Given the description of an element on the screen output the (x, y) to click on. 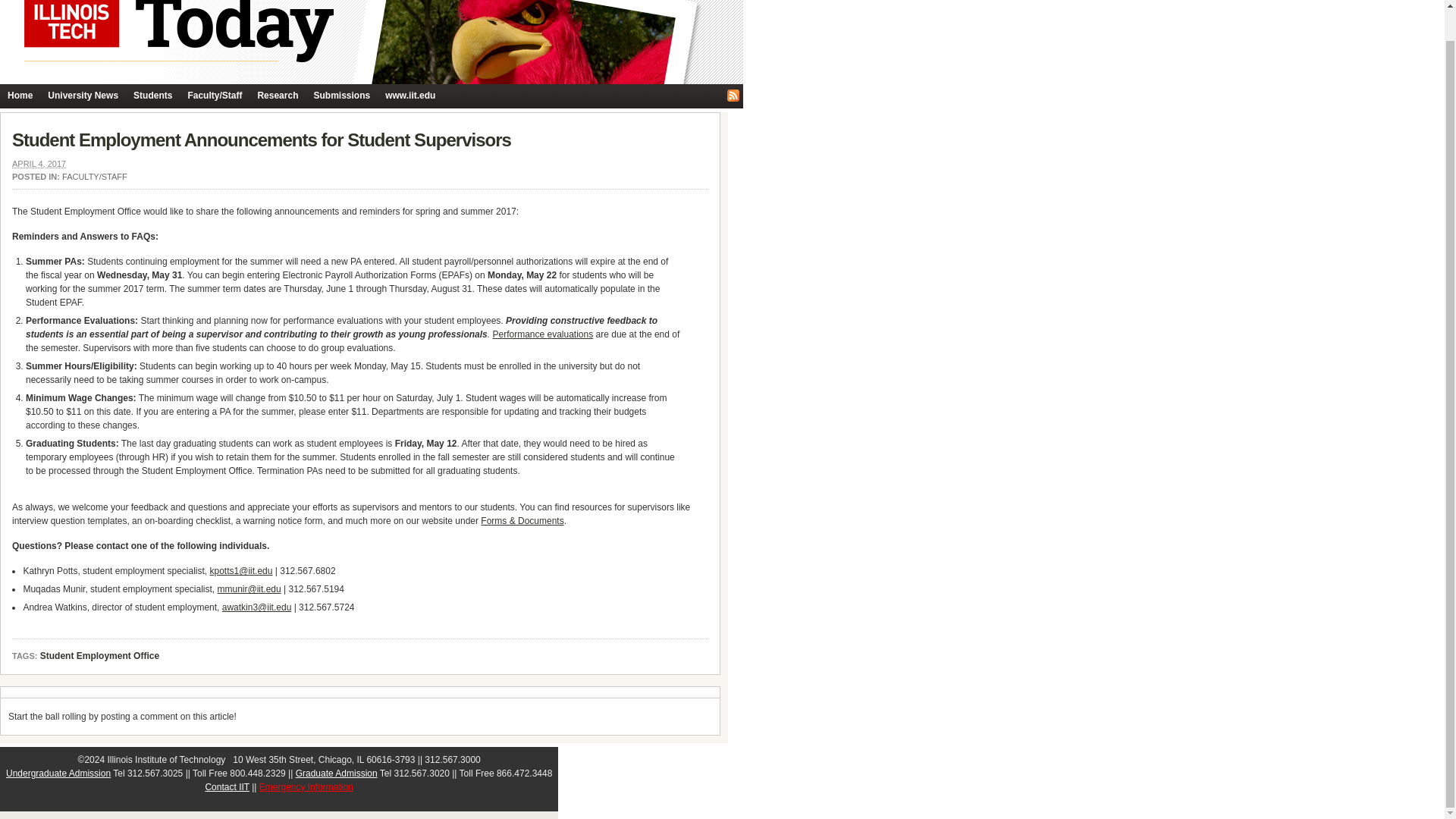
Graduate Admission (336, 773)
University News (82, 95)
Emergency Information (306, 787)
Student Employment Announcements for Student Supervisors (261, 139)
Contact IIT (226, 787)
Illinois Tech Today RSS Feed (732, 95)
Students (152, 95)
Contact IIT (226, 787)
www.iit.edu (409, 95)
2017-04-04T07:58:13-05:00 (38, 163)
Undergraduate Admission (57, 773)
Research (276, 95)
Performance evaluations (542, 334)
Student Employment Office (99, 656)
Home (20, 95)
